Given the description of an element on the screen output the (x, y) to click on. 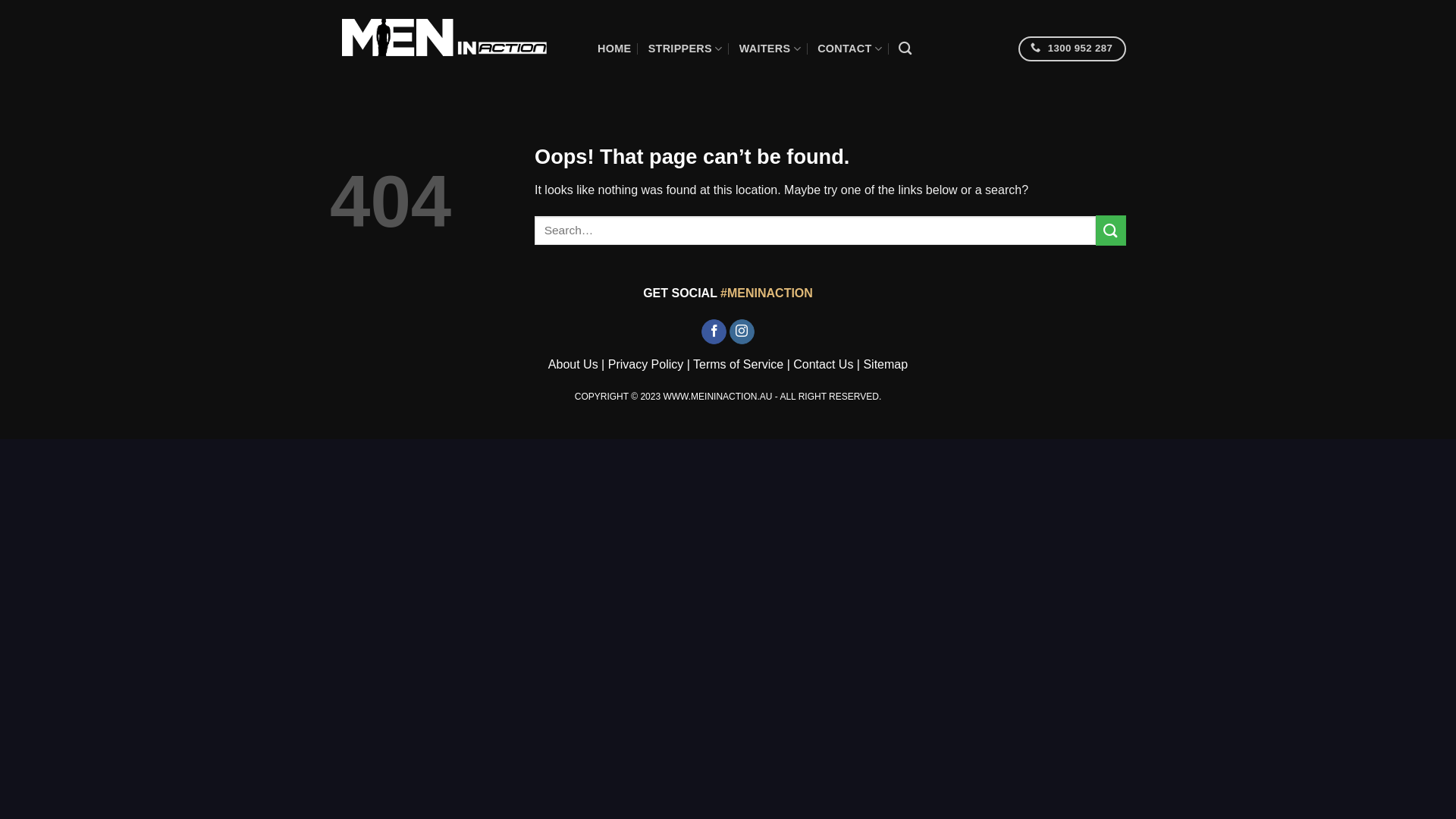
WAITERS Element type: text (769, 48)
Contact Us Element type: text (823, 363)
Sitemap Element type: text (884, 363)
Follow on Instagram Element type: hover (741, 332)
STRIPPERS Element type: text (685, 48)
1300 952 287 Element type: text (1072, 48)
About Us Element type: text (573, 363)
Terms of Service Element type: text (738, 363)
CONTACT Element type: text (849, 48)
Follow on Facebook Element type: hover (713, 332)
Privacy Policy Element type: text (646, 363)
HOME Element type: text (613, 48)
